Given the description of an element on the screen output the (x, y) to click on. 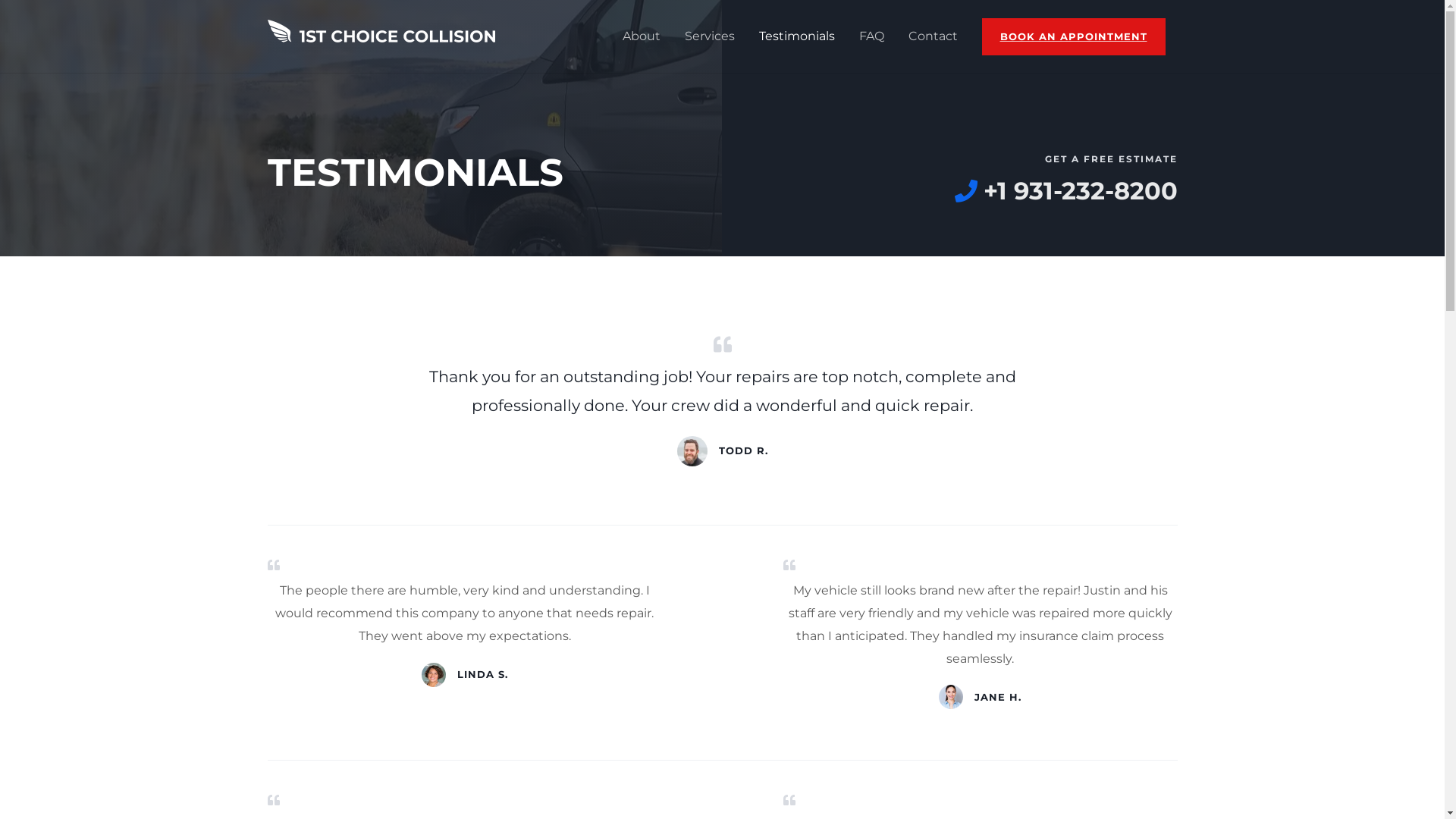
About Element type: text (640, 36)
Testimonials Element type: text (796, 36)
BOOK AN APPOINTMENT Element type: text (1072, 36)
FAQ Element type: text (870, 36)
Services Element type: text (708, 36)
Contact Element type: text (932, 36)
